Given the description of an element on the screen output the (x, y) to click on. 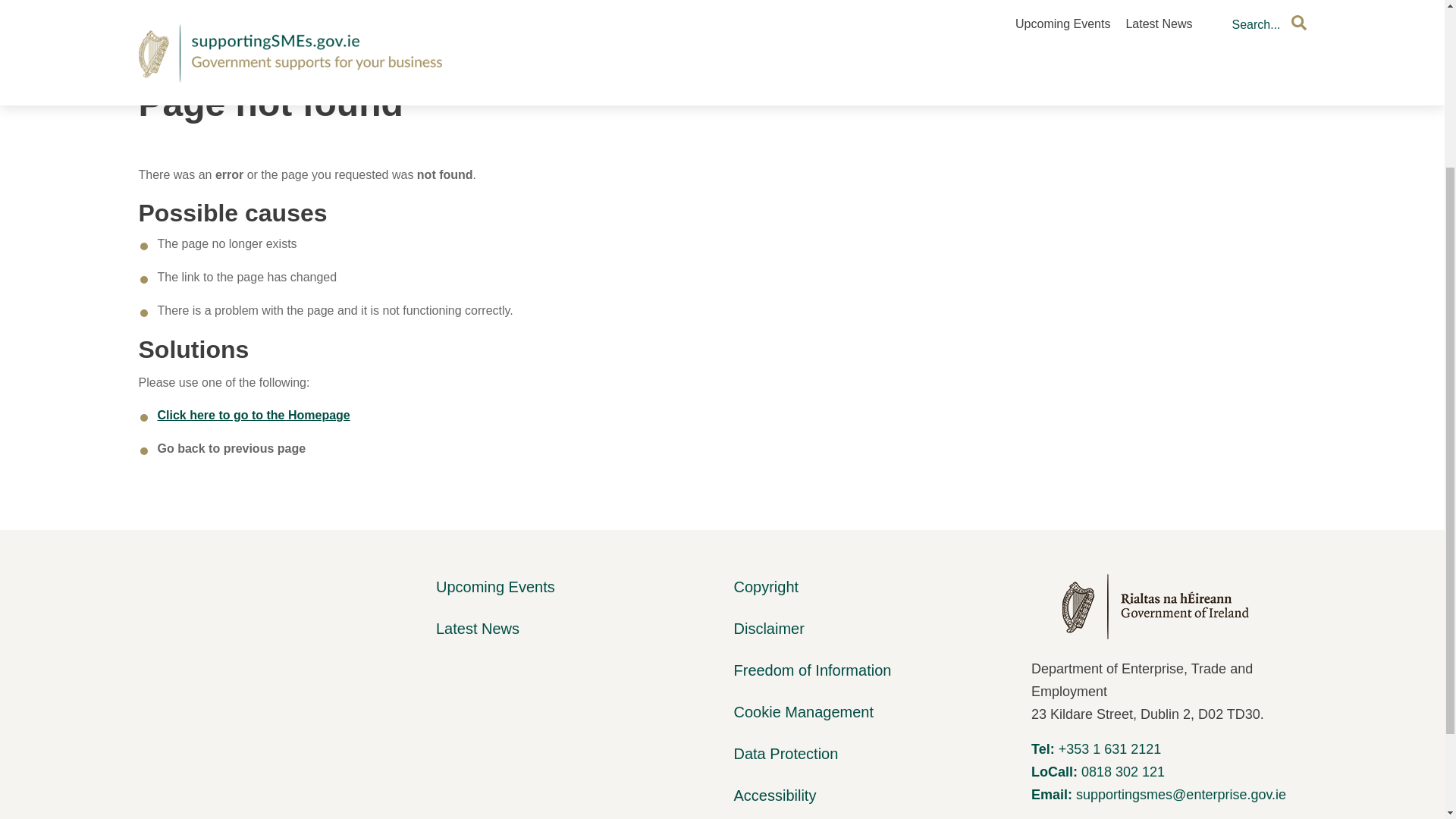
Click here to go to the Homepage (253, 414)
Home (154, 8)
Disclaimer (769, 628)
Data Protection (785, 753)
Upcoming Events (494, 586)
Copyright (766, 586)
Go back to previous page (231, 448)
Accessibility (774, 795)
Freedom of Information (812, 669)
Cookie Management (804, 711)
